Given the description of an element on the screen output the (x, y) to click on. 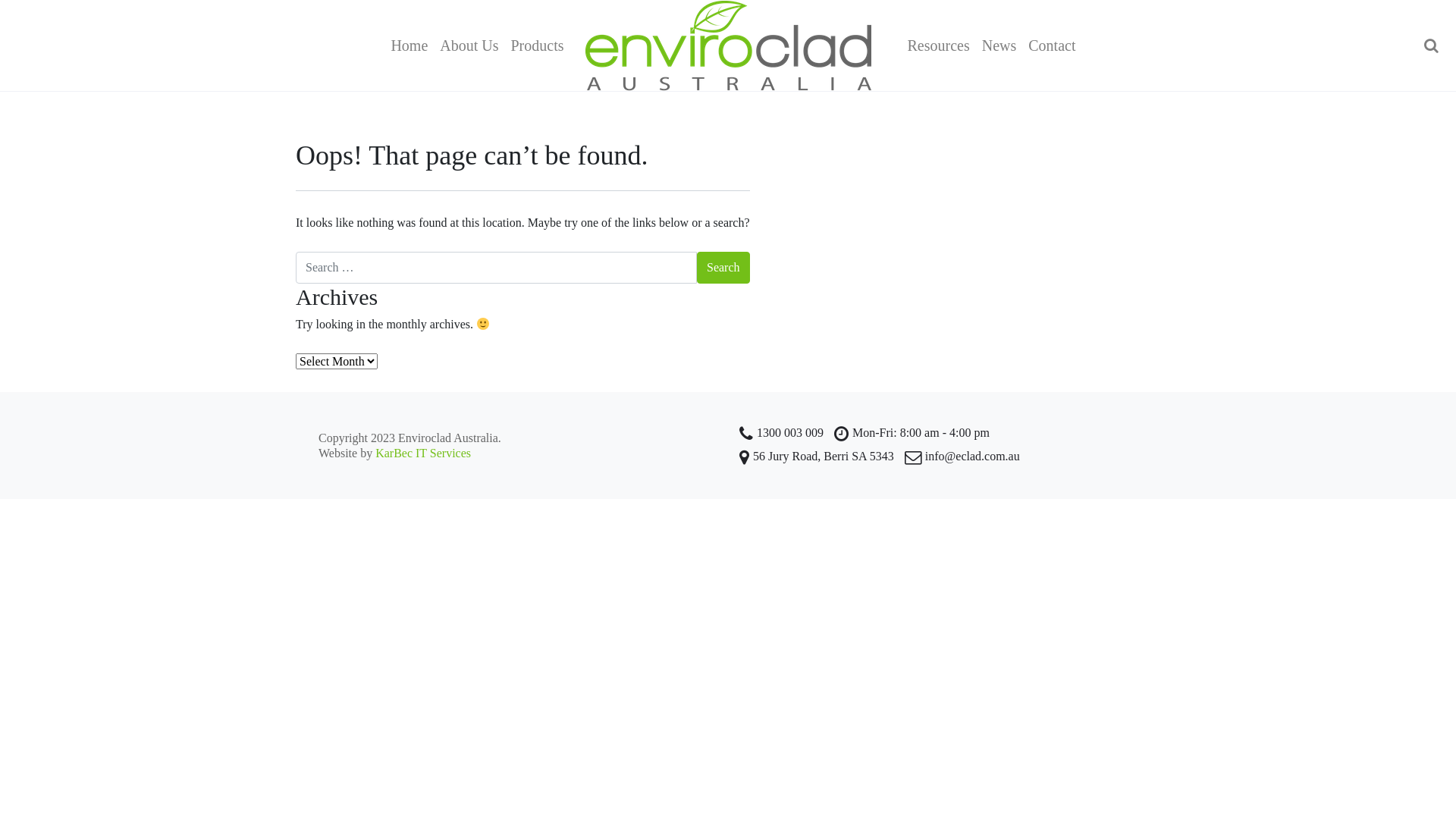
Enviroclad Australia Element type: hover (728, 45)
KarBec IT Services Element type: text (422, 452)
Resources Element type: text (937, 45)
Home Element type: text (408, 45)
Search Element type: text (722, 267)
About Us Element type: text (468, 45)
Products Element type: text (537, 45)
News Element type: text (998, 45)
Contact Element type: text (1051, 45)
